Given the description of an element on the screen output the (x, y) to click on. 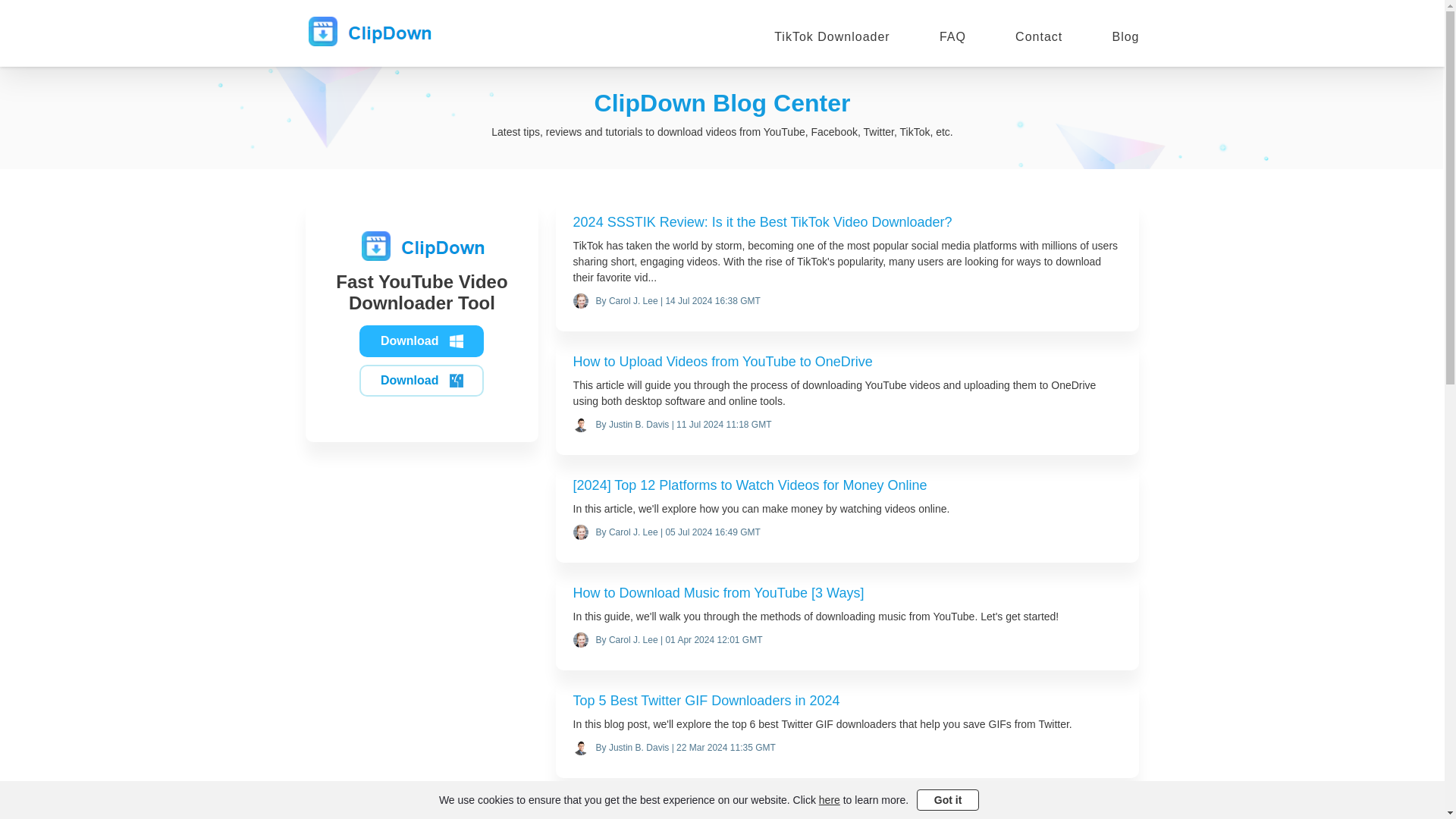
TikTok Downloader (831, 37)
Download (421, 341)
FAQ (952, 37)
here (829, 799)
Download (421, 380)
Blog (1125, 37)
Contact (1038, 37)
